Given the description of an element on the screen output the (x, y) to click on. 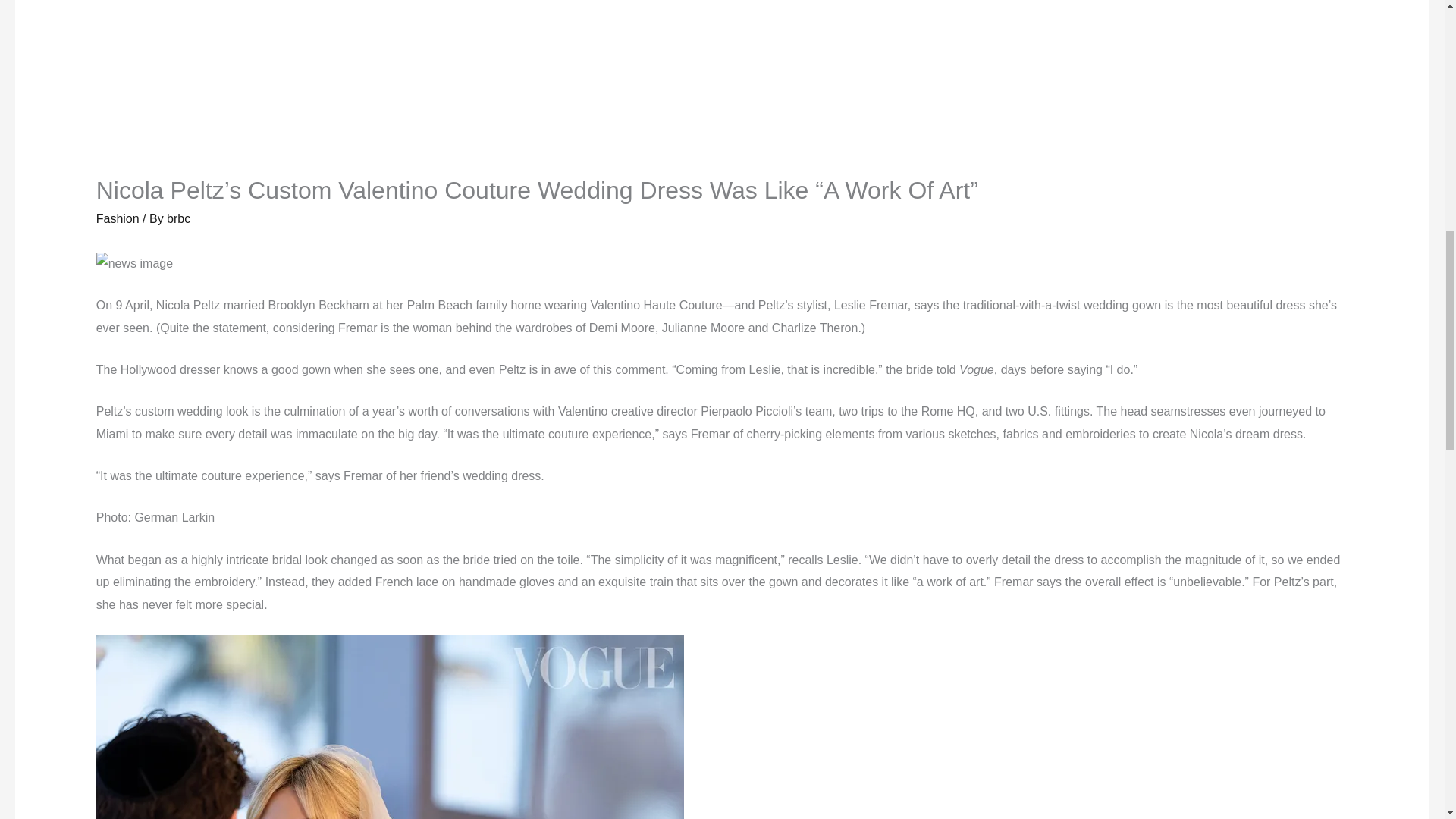
Fashion (117, 218)
View all posts by brbc (178, 218)
brbc (178, 218)
